Given the description of an element on the screen output the (x, y) to click on. 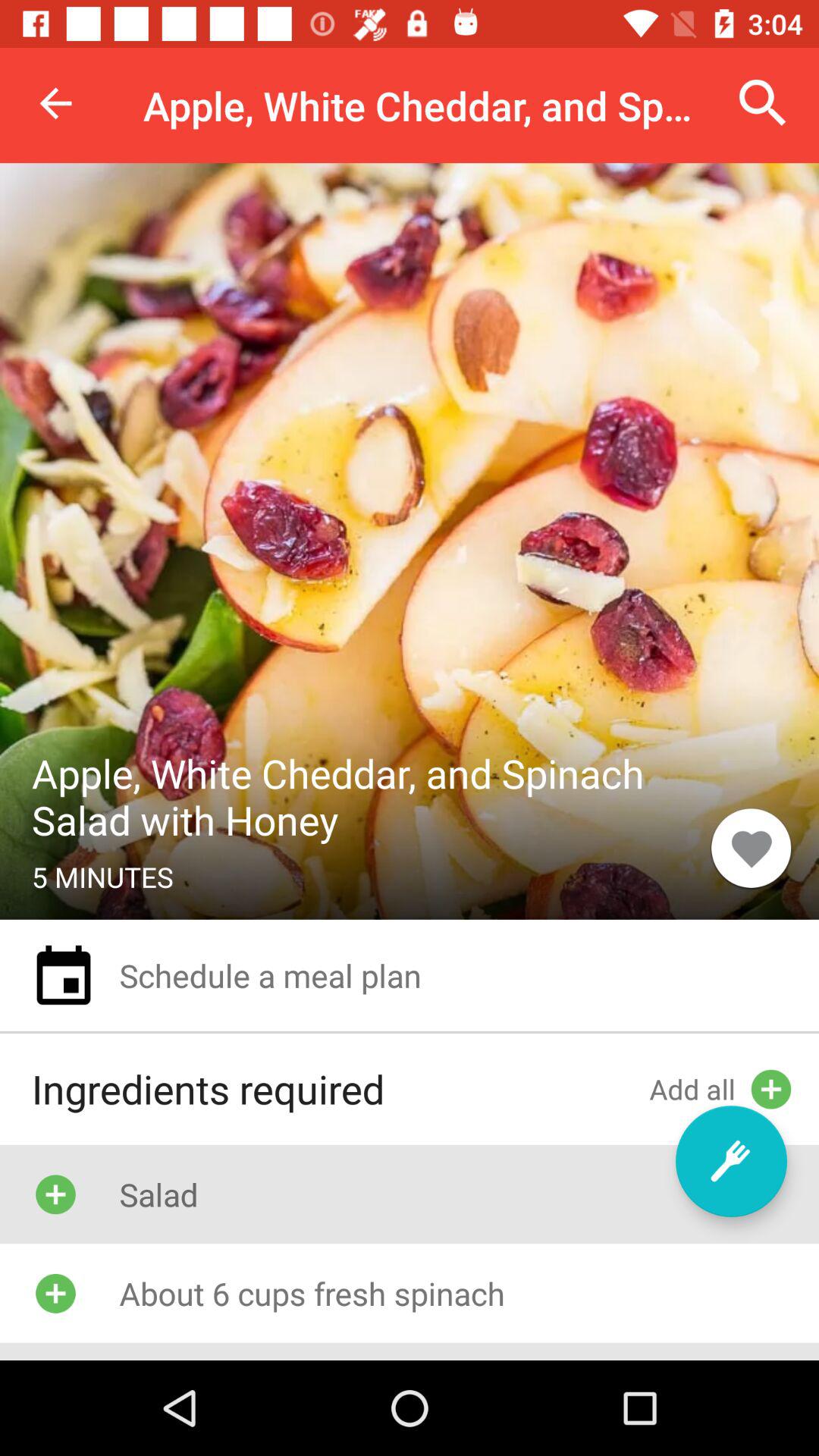
turn on item above the about 6 cups item (731, 1161)
